Given the description of an element on the screen output the (x, y) to click on. 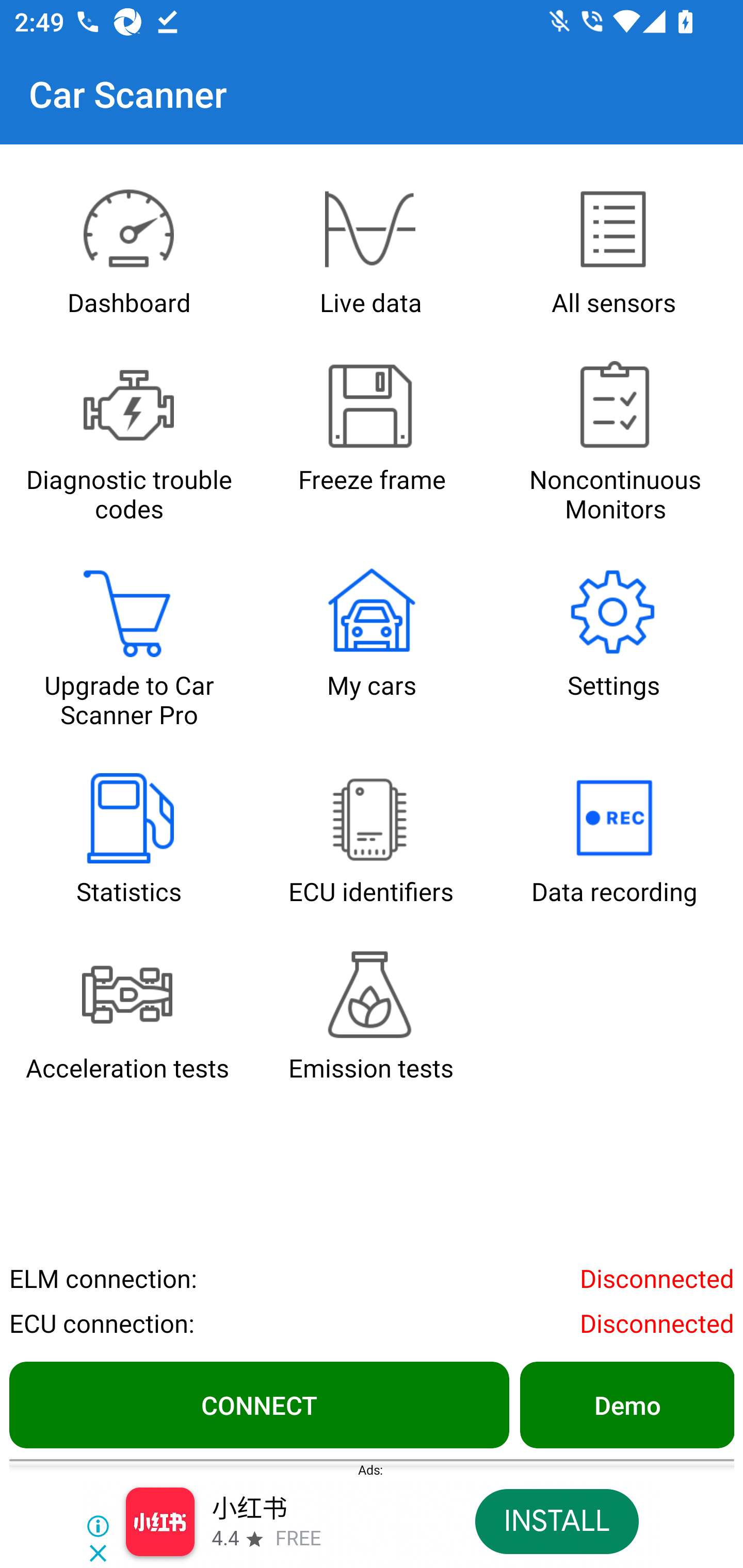
CONNECT (258, 1404)
Demo (627, 1404)
INSTALL (556, 1521)
小红书 (249, 1509)
4.4 (224, 1539)
FREE (298, 1539)
